Given the description of an element on the screen output the (x, y) to click on. 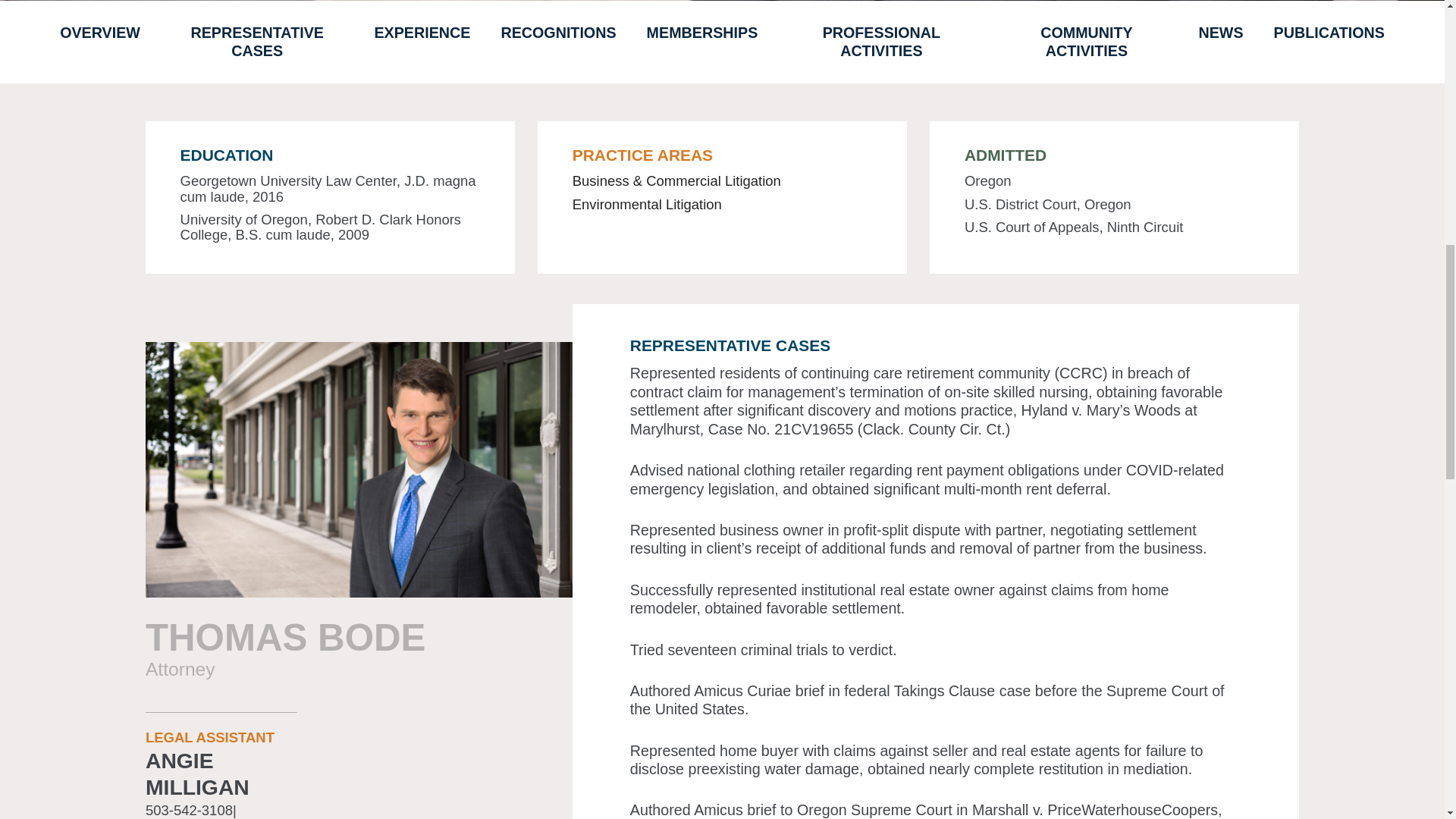
503-542-3108 (188, 810)
Environmental Litigation (647, 204)
phone call (188, 810)
Environmental Litigation (647, 204)
